Given the description of an element on the screen output the (x, y) to click on. 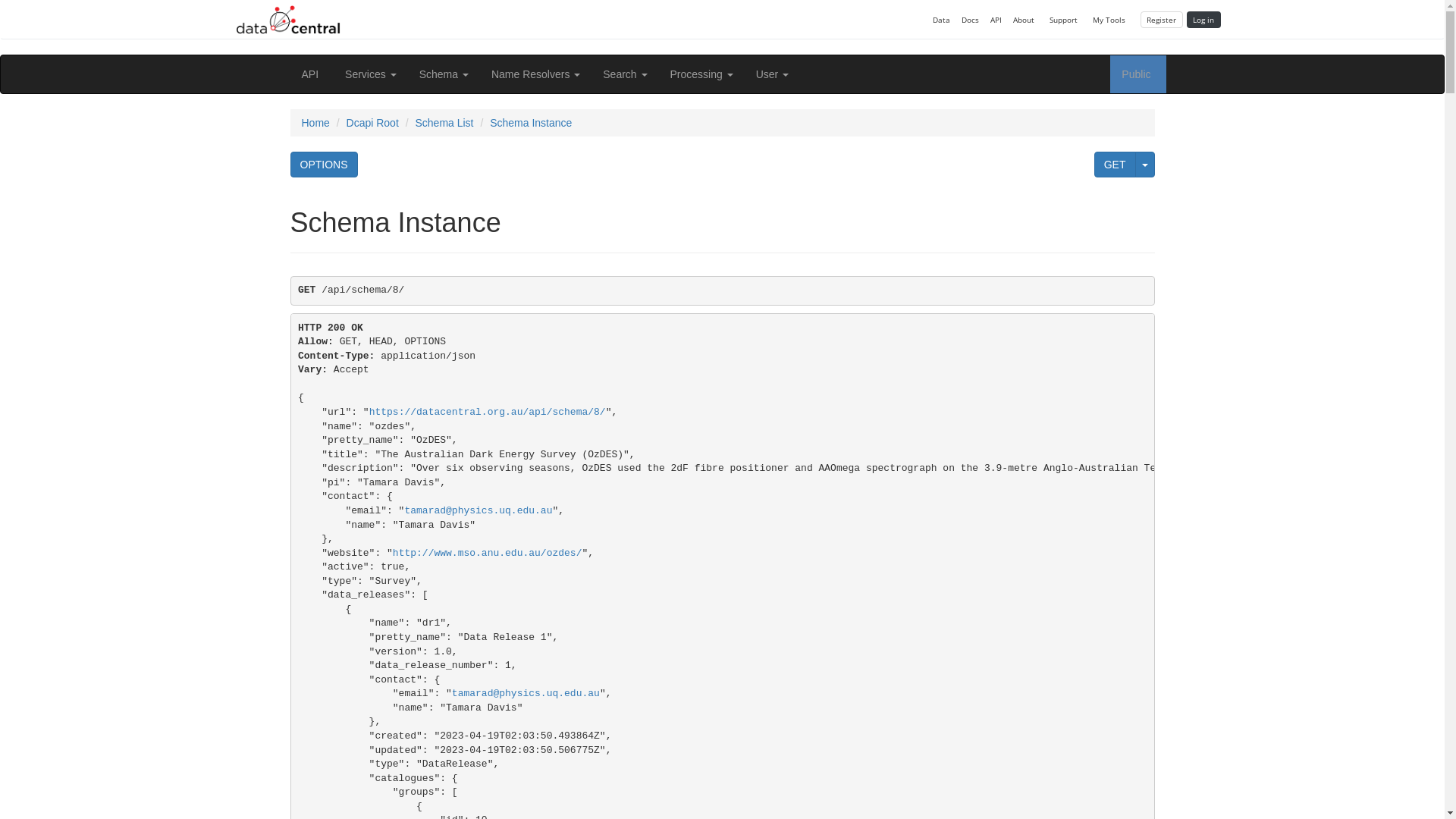
Name Resolvers Element type: text (535, 74)
http://www.mso.anu.edu.au/ozdes/ Element type: text (487, 552)
Register Element type: text (1161, 19)
Services Element type: text (370, 74)
OPTIONS Element type: text (323, 164)
API Element type: text (995, 19)
Log in Element type: text (1203, 19)
Back to Data Central Element type: hover (287, 19)
User Element type: text (772, 74)
Home Element type: text (315, 122)
tamarad@physics.uq.edu.au Element type: text (478, 510)
About Element type: text (1025, 19)
Docs Element type: text (969, 19)
Schema List Element type: text (443, 122)
https://datacentral.org.au/api/schema/8/ Element type: text (487, 411)
Specify a format for the GET request Element type: hover (1144, 164)
tamarad@physics.uq.edu.au Element type: text (525, 693)
Search Element type: text (624, 74)
Processing Element type: text (701, 74)
GET Element type: text (1114, 164)
Schema Element type: text (443, 74)
Dcapi Root Element type: text (372, 122)
Schema Instance Element type: text (530, 122)
Public Element type: text (1137, 74)
Data Element type: text (940, 19)
API Element type: text (311, 74)
